Given the description of an element on the screen output the (x, y) to click on. 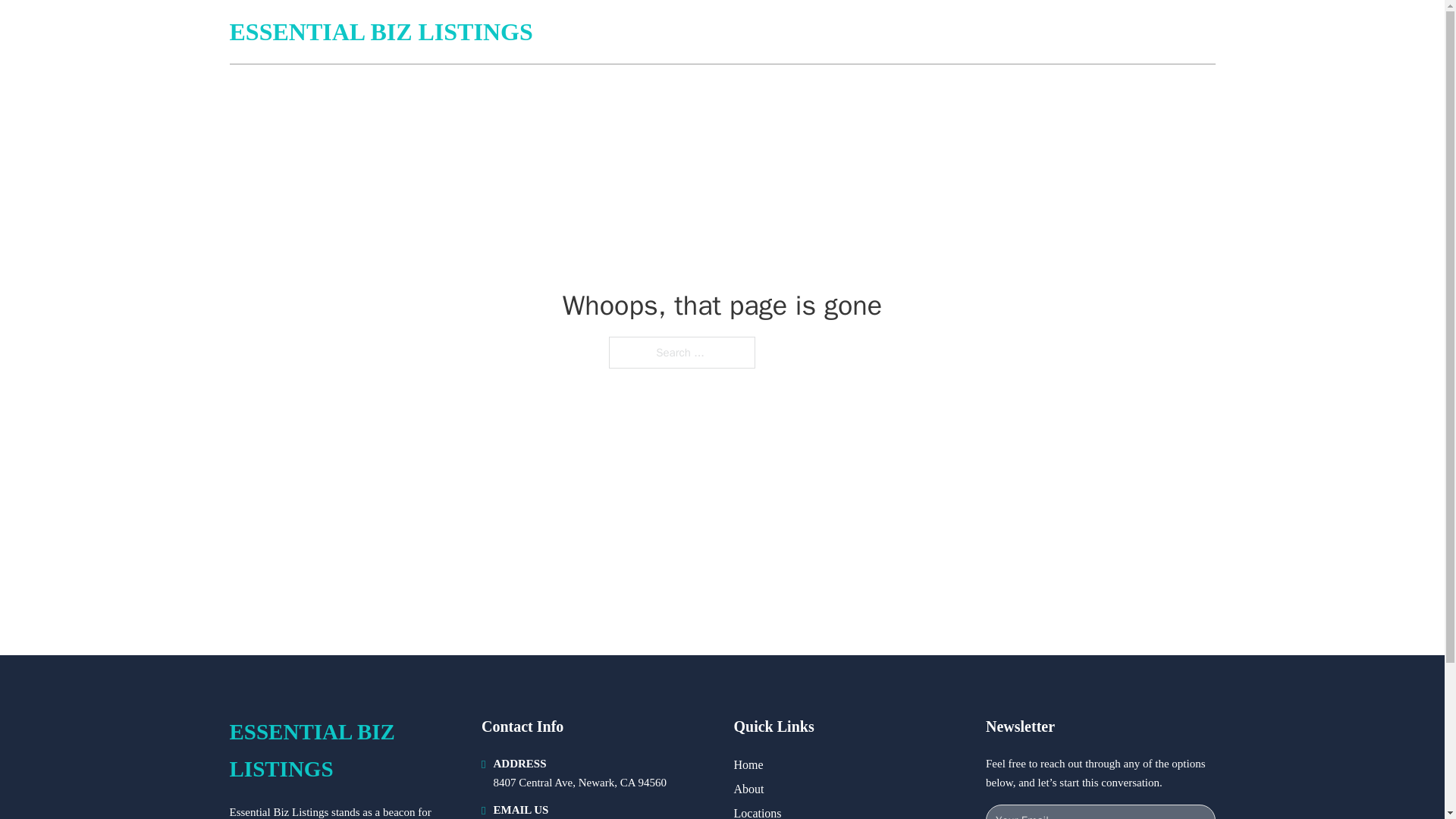
Home (747, 764)
LOCATIONS (1105, 31)
About (748, 788)
HOME (1032, 31)
ESSENTIAL BIZ LISTINGS (380, 31)
ESSENTIAL BIZ LISTINGS (343, 750)
Locations (757, 811)
